Given the description of an element on the screen output the (x, y) to click on. 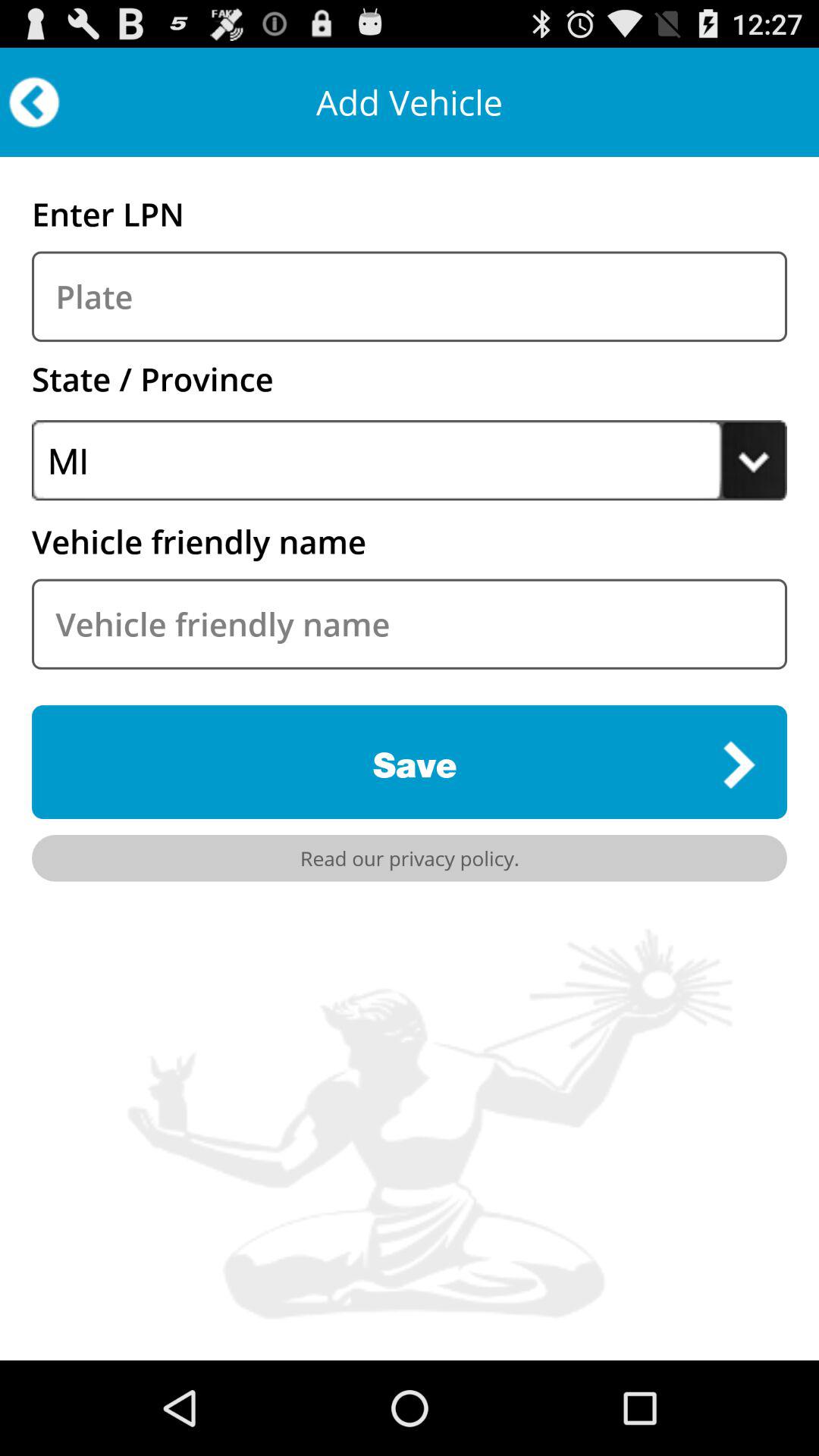
enter vehicle friendly name (409, 623)
